Given the description of an element on the screen output the (x, y) to click on. 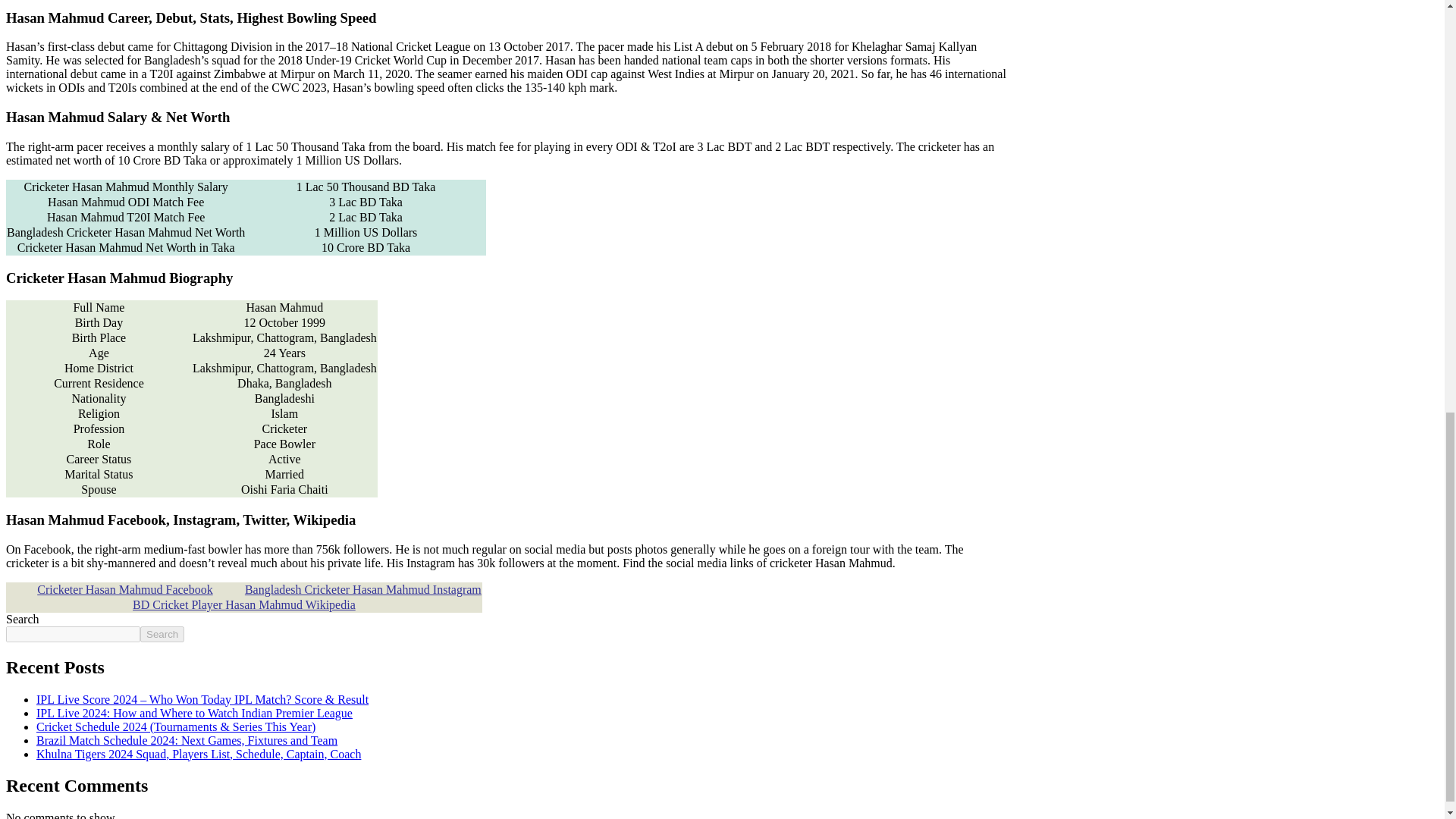
IPL Live 2024: How and Where to Watch Indian Premier League (194, 712)
Search (161, 634)
Bangladesh Cricketer Hasan Mahmud Instagram (362, 589)
Cricketer Hasan Mahmud Facebook (124, 589)
Brazil Match Schedule 2024: Next Games, Fixtures and Team (186, 739)
BD Cricket Player Hasan Mahmud Wikipedia (243, 604)
